Given the description of an element on the screen output the (x, y) to click on. 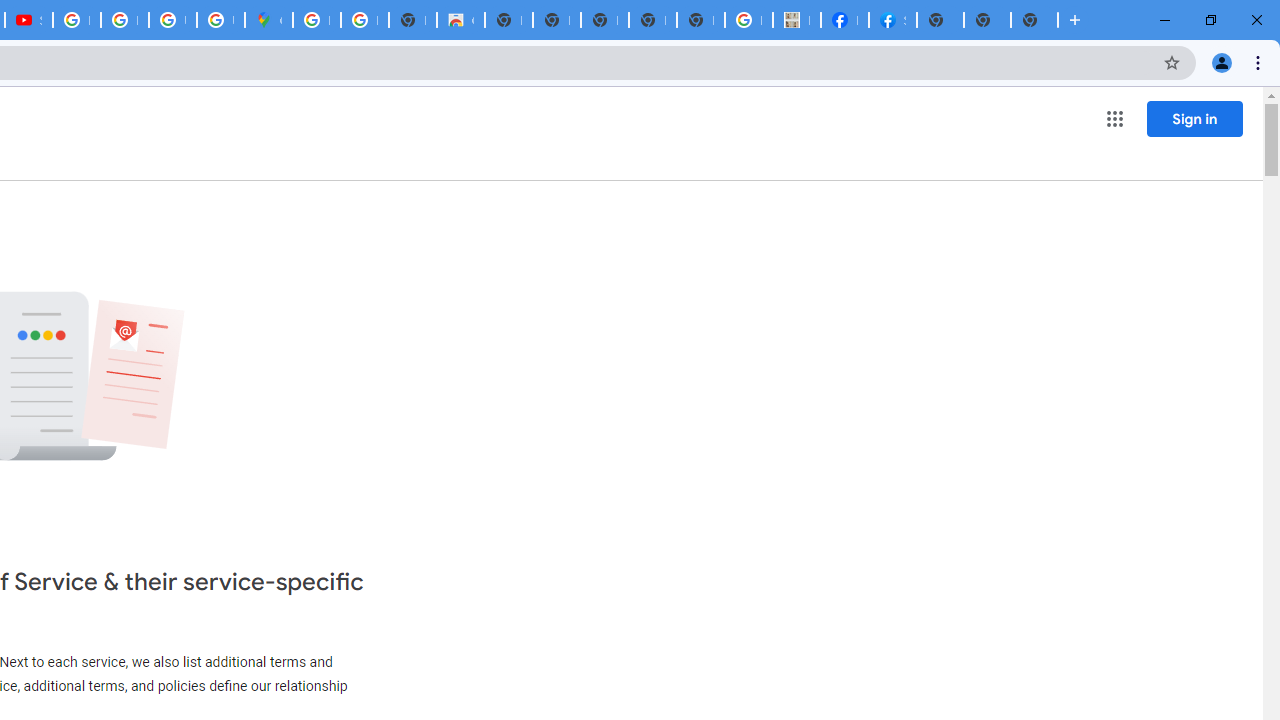
Chrome Web Store (460, 20)
New Tab (1034, 20)
